Given the description of an element on the screen output the (x, y) to click on. 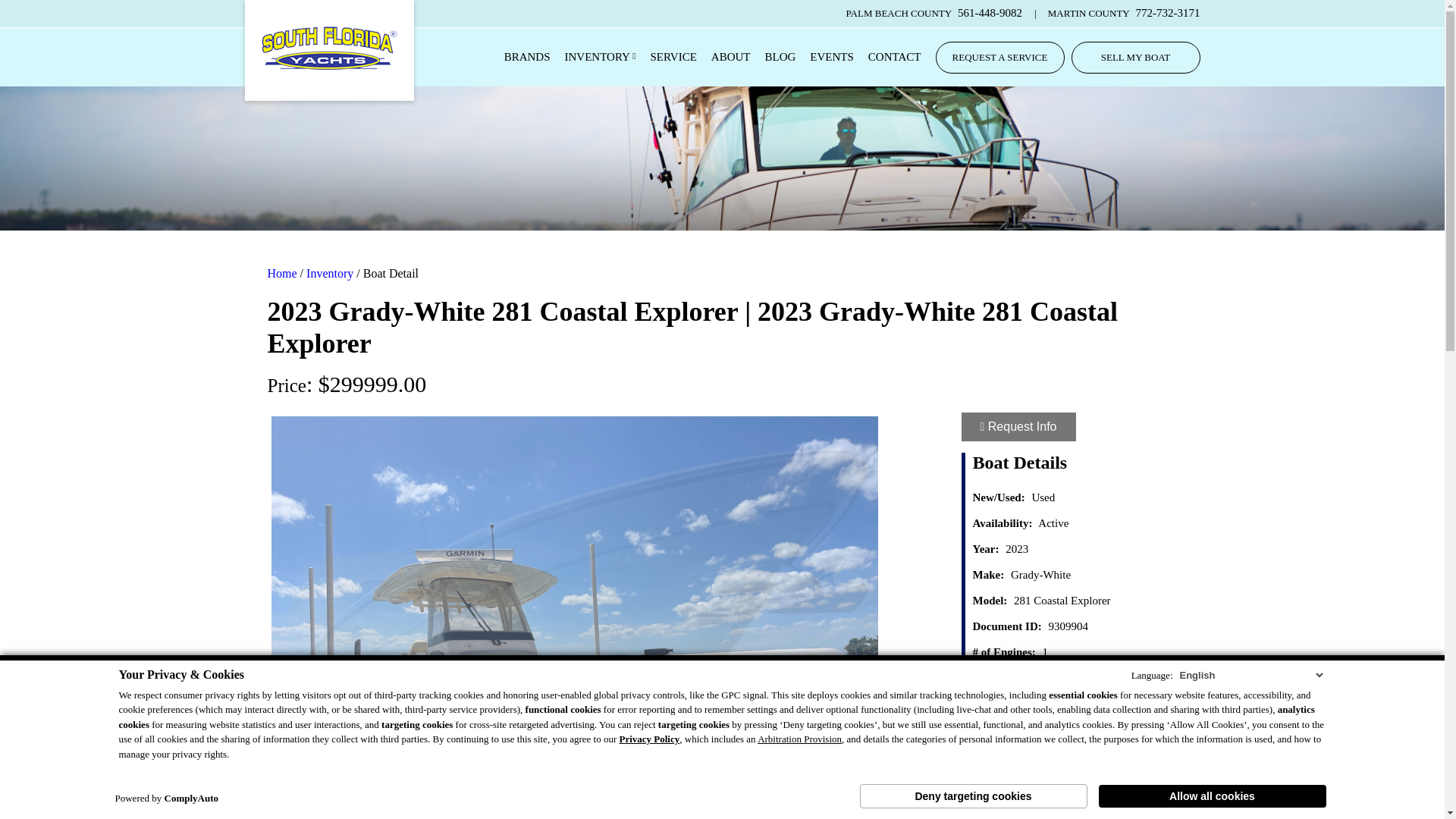
INVENTORY (600, 57)
CONTACT (894, 57)
SERVICE (673, 57)
ABOUT (731, 57)
772-732-3171 (1167, 13)
Request Info (1017, 426)
SELL MY BOAT (1134, 56)
Inventory (329, 273)
BLOG (780, 57)
561-448-9082 (990, 13)
Home (281, 273)
BRANDS (526, 57)
EVENTS (831, 57)
REQUEST A SERVICE (1000, 56)
